Given the description of an element on the screen output the (x, y) to click on. 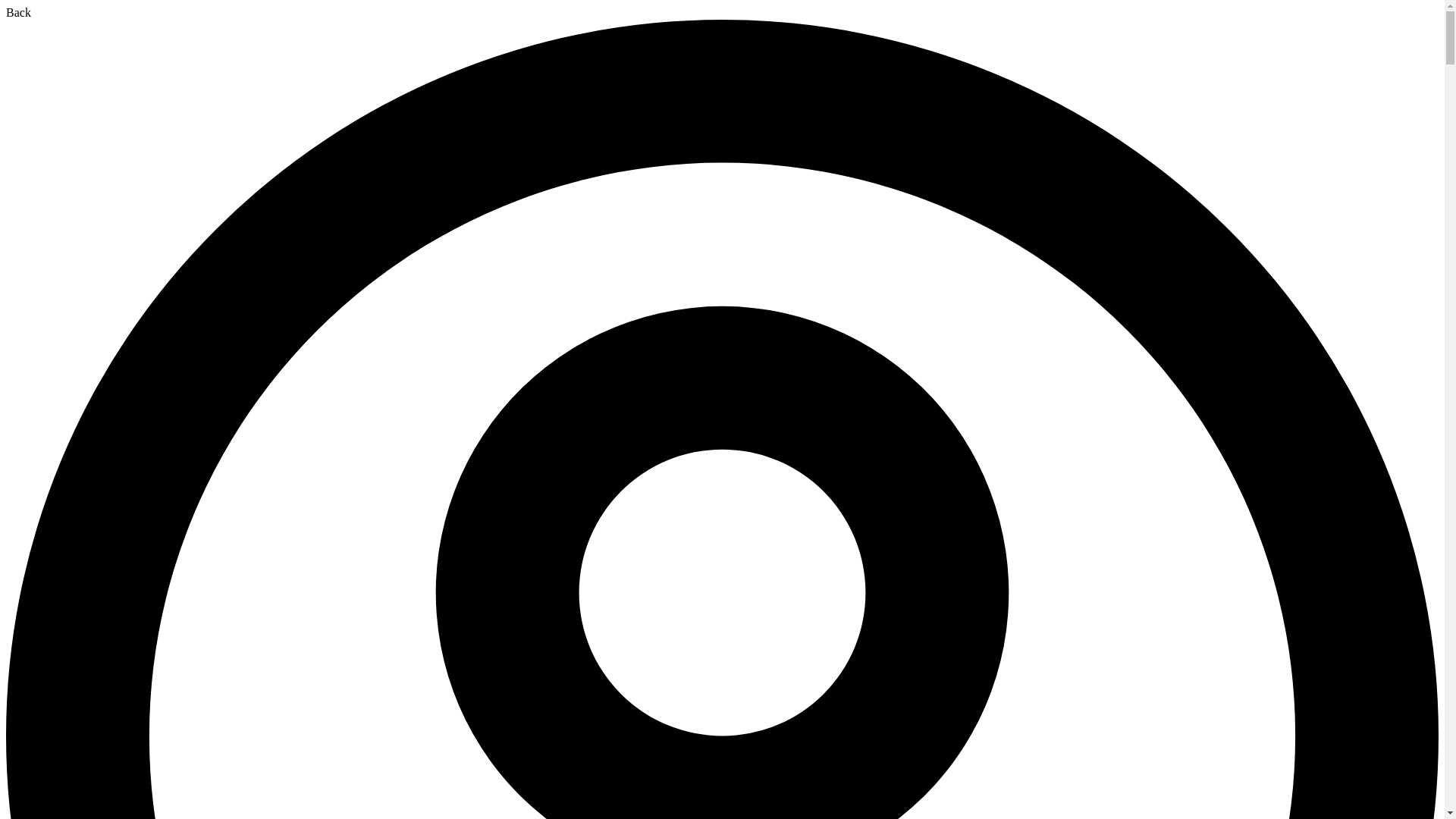
Go back (17, 11)
Back (17, 11)
